Given the description of an element on the screen output the (x, y) to click on. 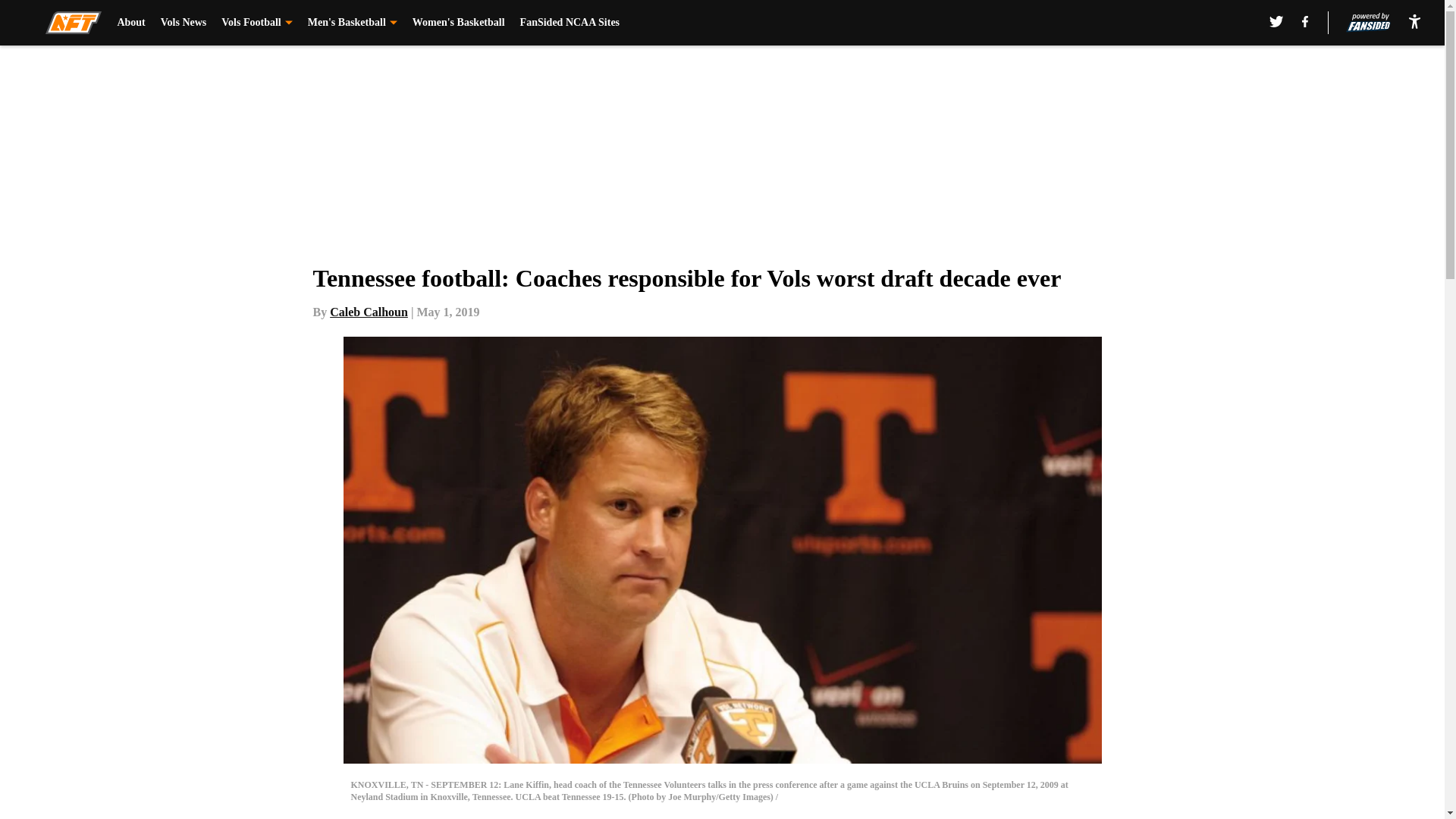
Women's Basketball (458, 22)
FanSided NCAA Sites (569, 22)
About (130, 22)
Caleb Calhoun (368, 311)
Vols News (183, 22)
